Given the description of an element on the screen output the (x, y) to click on. 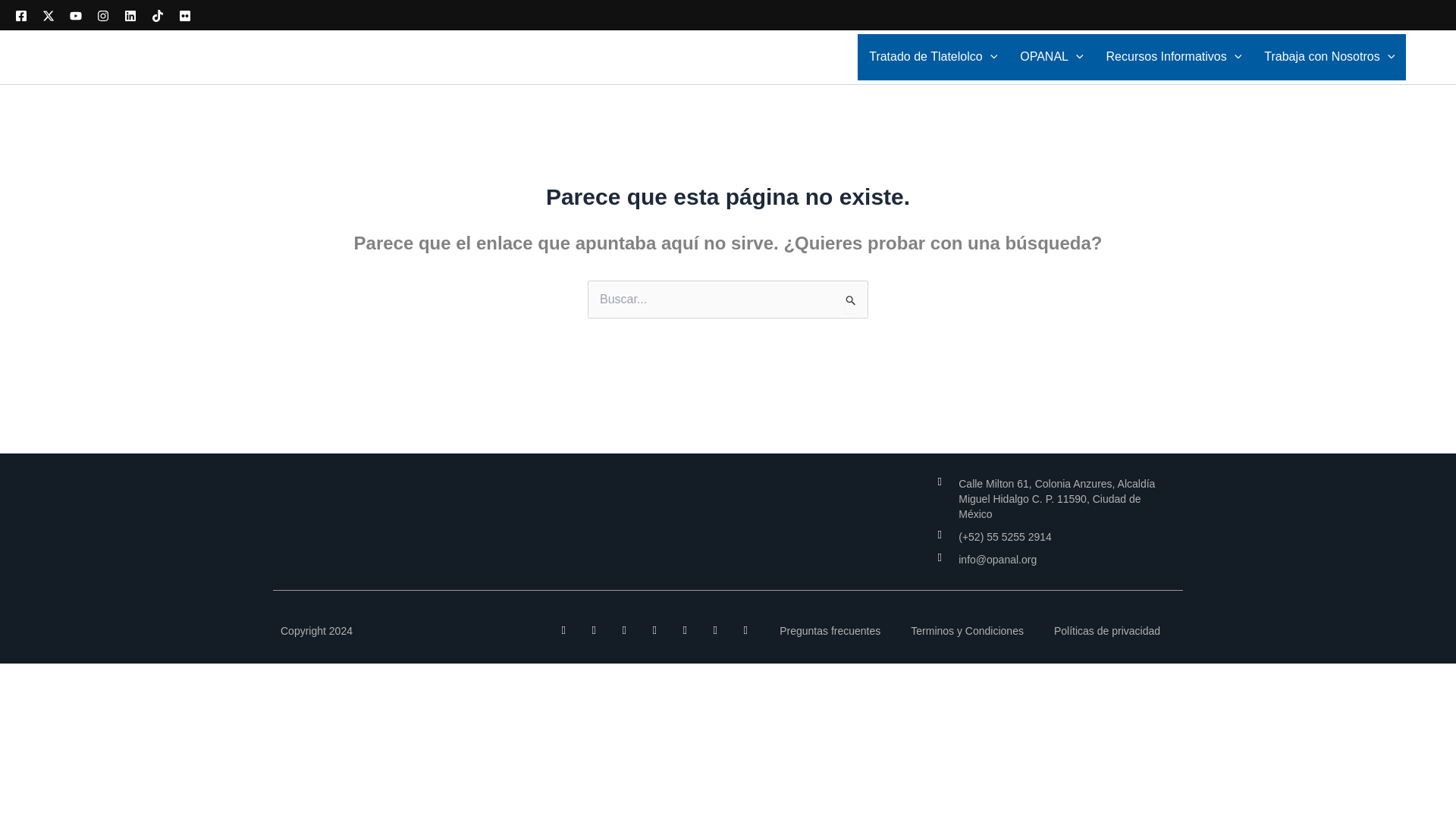
Trabaja con Nosotros (1329, 57)
Tratado de Tlatelolco (933, 57)
Recursos Informativos (1173, 57)
OPANAL (1051, 57)
